Given the description of an element on the screen output the (x, y) to click on. 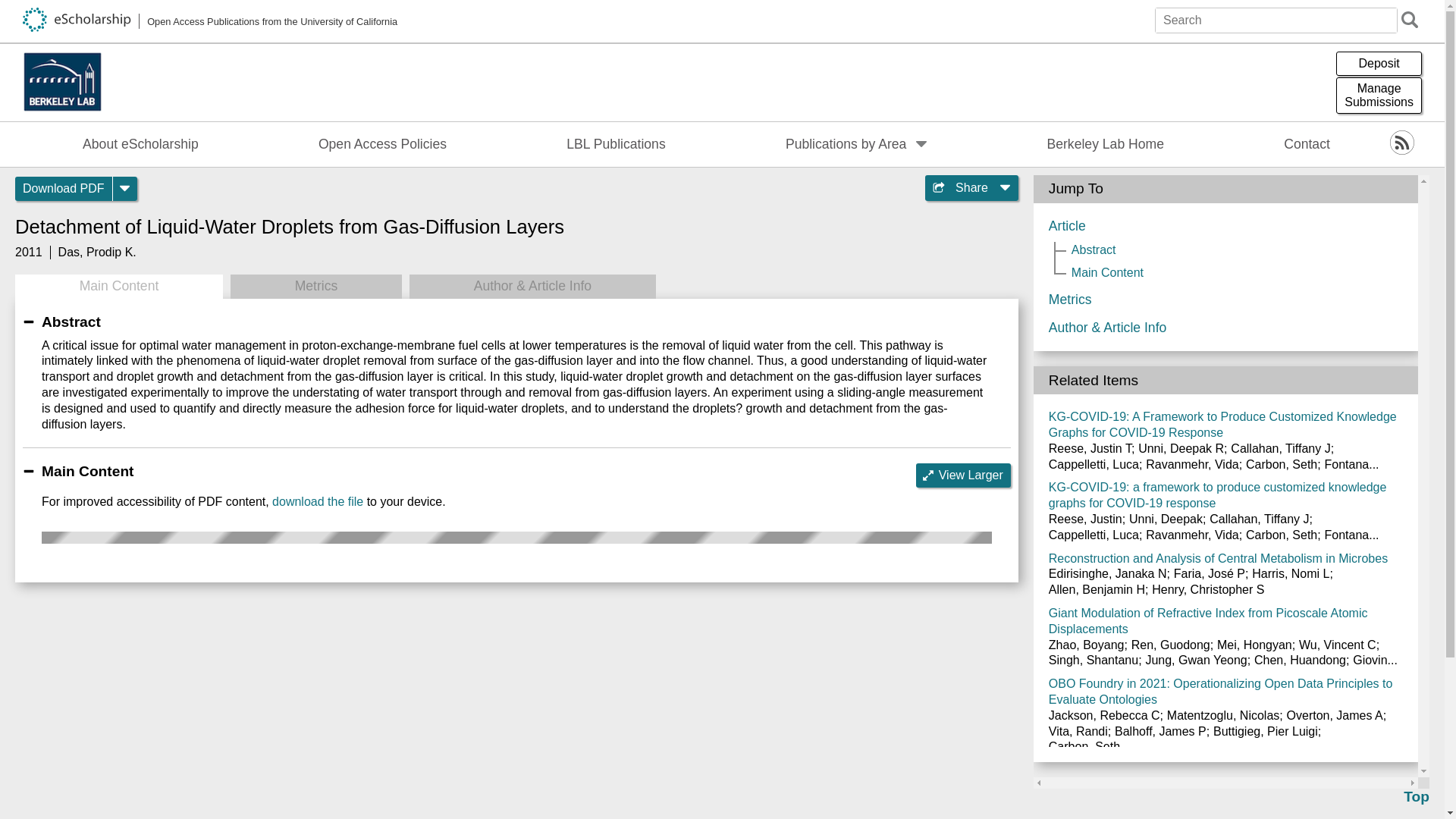
LBL Publications (615, 143)
Contact (1307, 143)
Deposit (1379, 63)
Main Content (118, 286)
Berkeley Lab Home (1105, 143)
Open Access Publications from the University of California (210, 21)
Open Access Policies (382, 143)
Download PDF (63, 188)
View Larger (962, 475)
About eScholarship (140, 143)
